Given the description of an element on the screen output the (x, y) to click on. 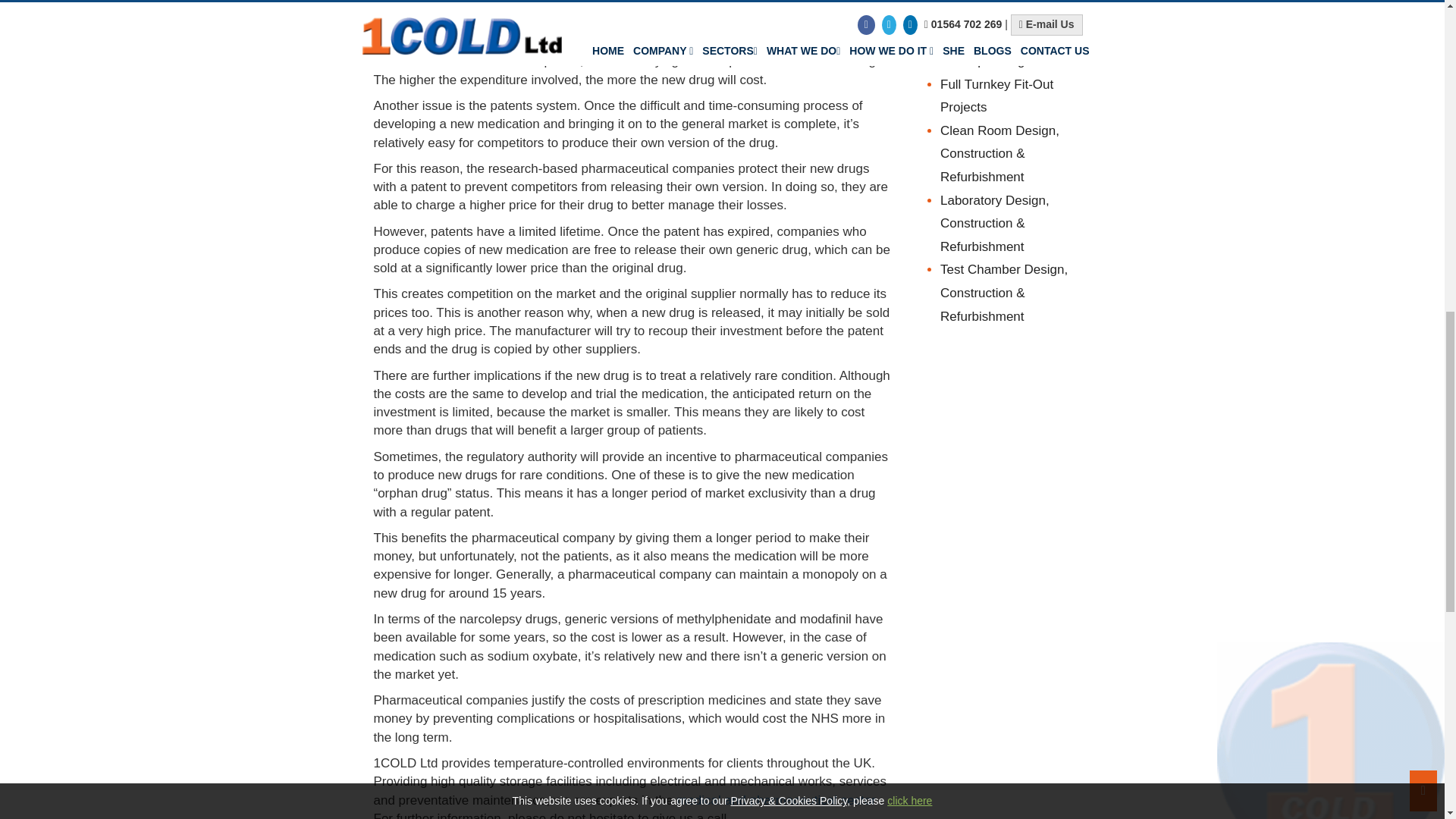
Full Turnkey Fit-Out Projects (996, 95)
